Given the description of an element on the screen output the (x, y) to click on. 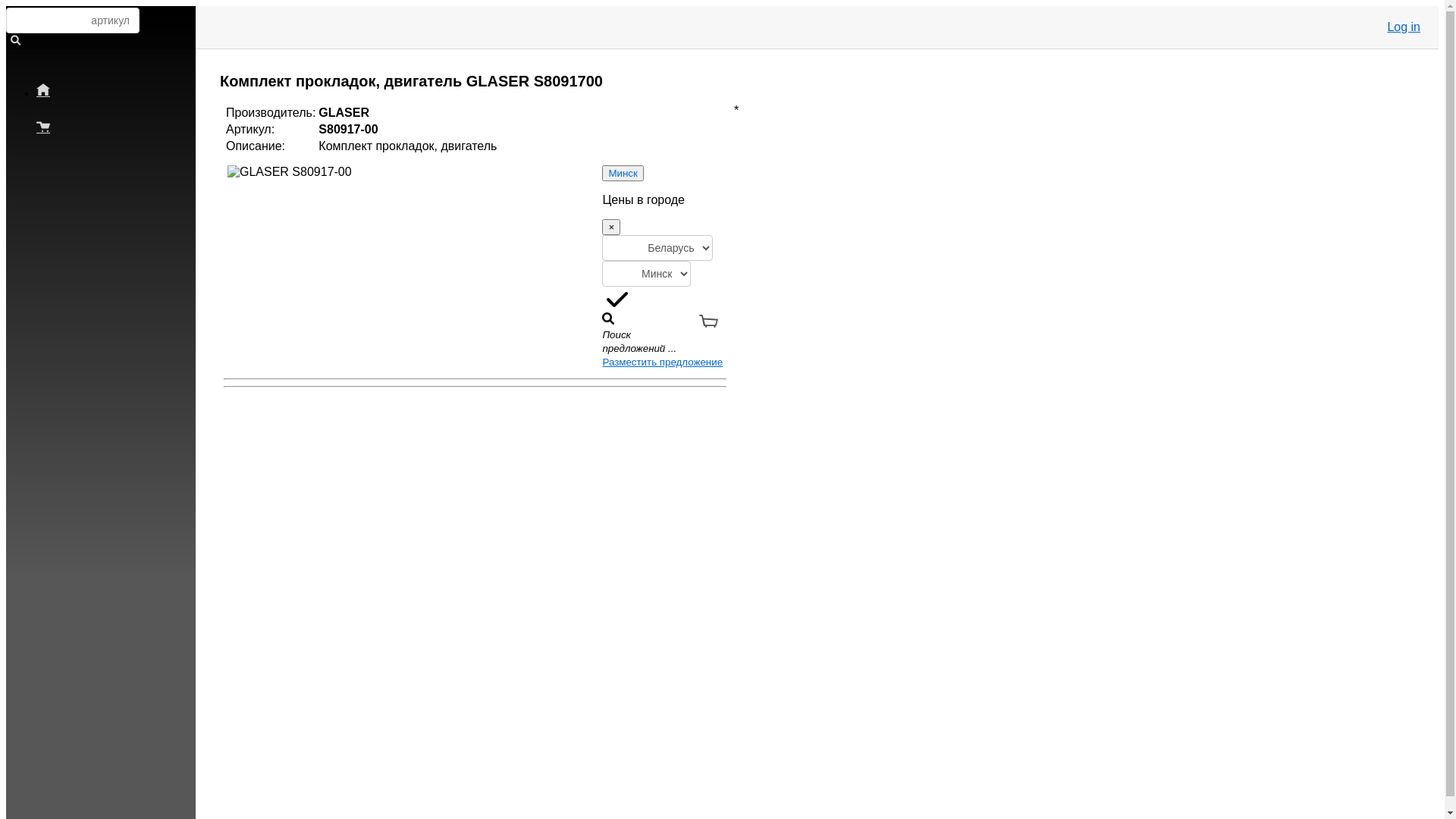
Log in Element type: text (1403, 27)
